Given the description of an element on the screen output the (x, y) to click on. 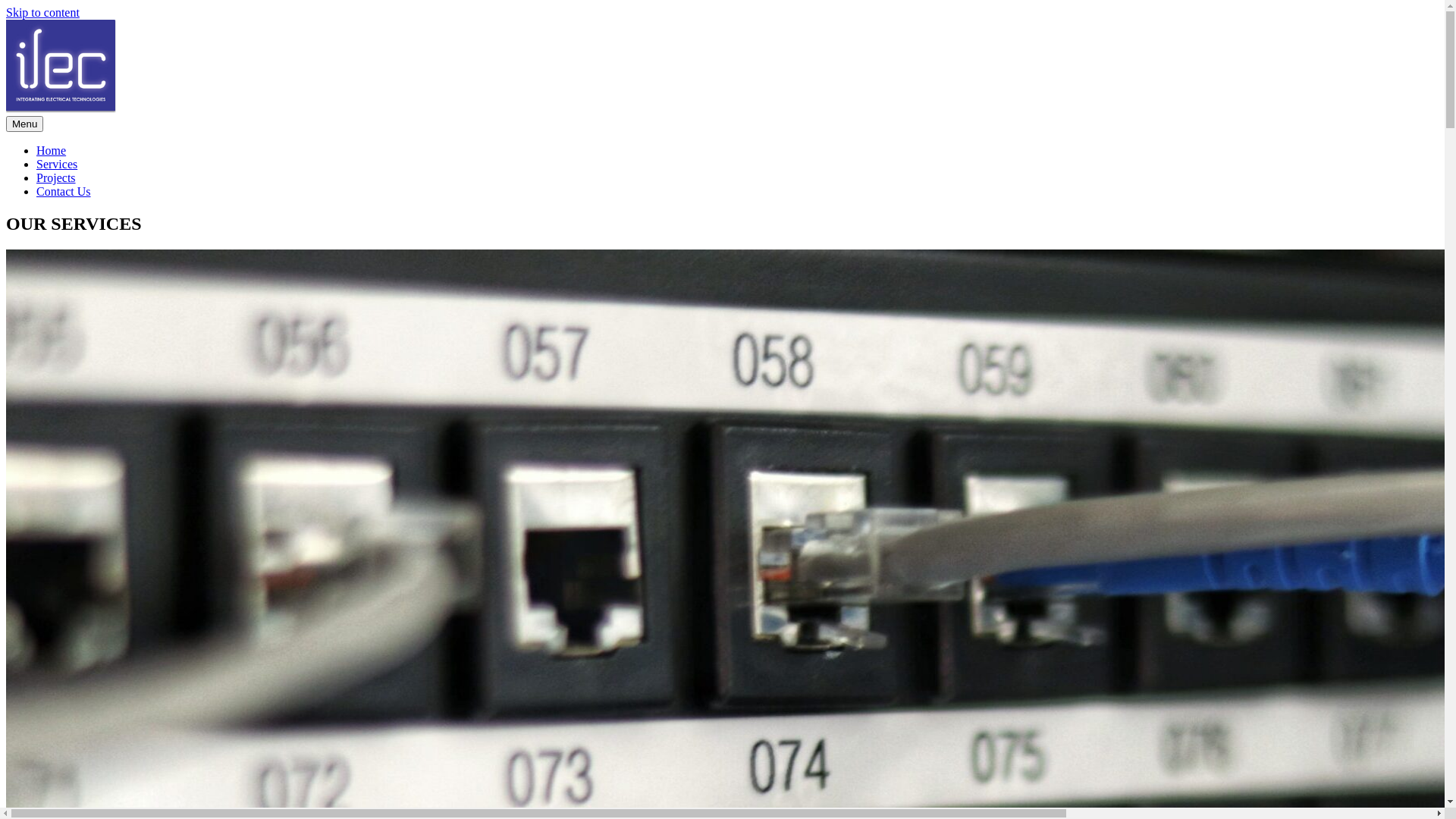
Home Element type: text (50, 150)
Skip to content Element type: text (42, 12)
Services Element type: text (56, 163)
Projects Element type: text (55, 177)
Contact Us Element type: text (63, 191)
Menu Element type: text (24, 123)
